Given the description of an element on the screen output the (x, y) to click on. 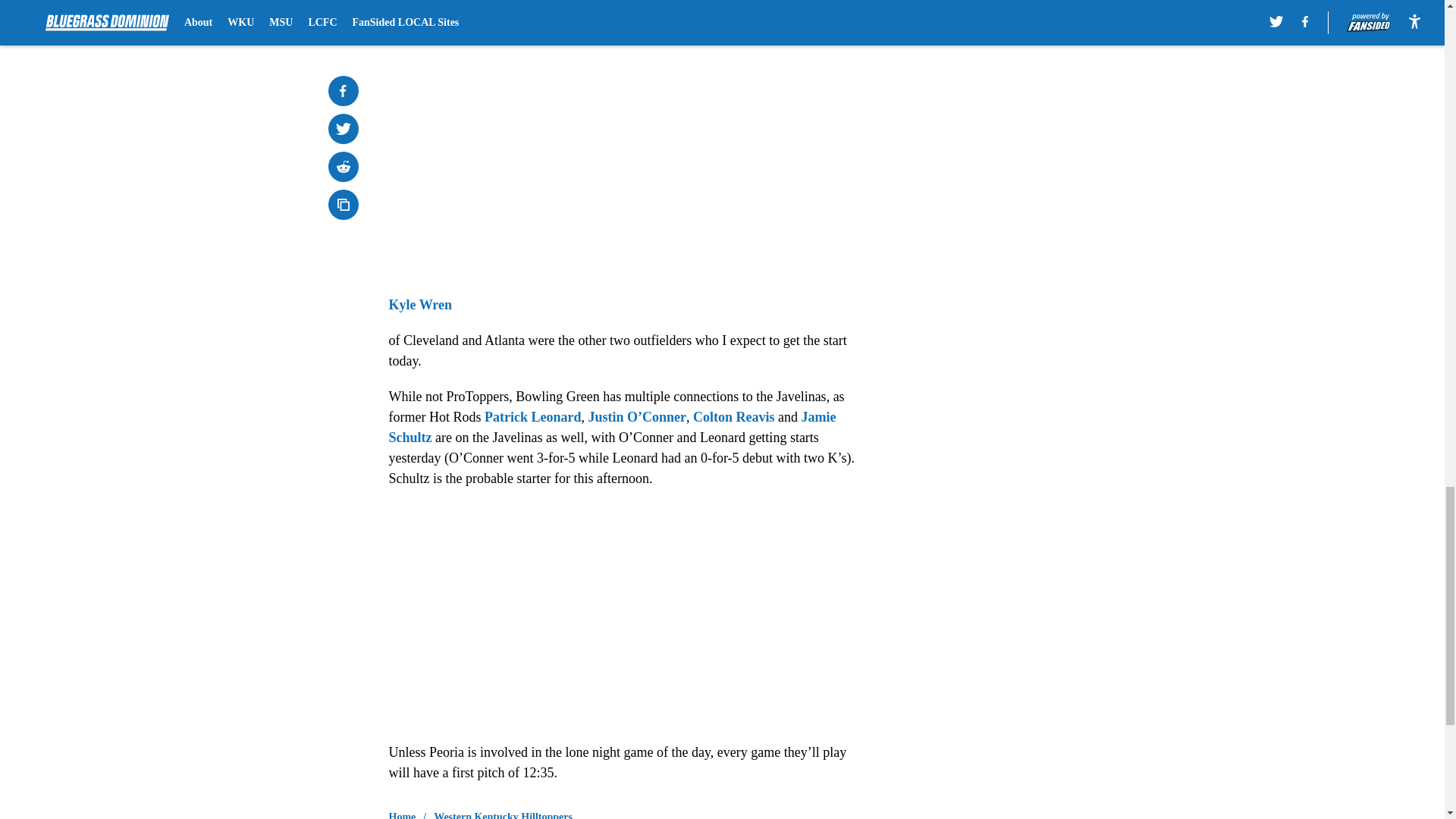
Jordan Smith (428, 1)
Colton Reavis (733, 417)
Jamie Schultz (611, 427)
Kyle Wren (419, 304)
Western Kentucky Hilltoppers (502, 814)
Home (401, 814)
Patrick Leonard (532, 417)
